Given the description of an element on the screen output the (x, y) to click on. 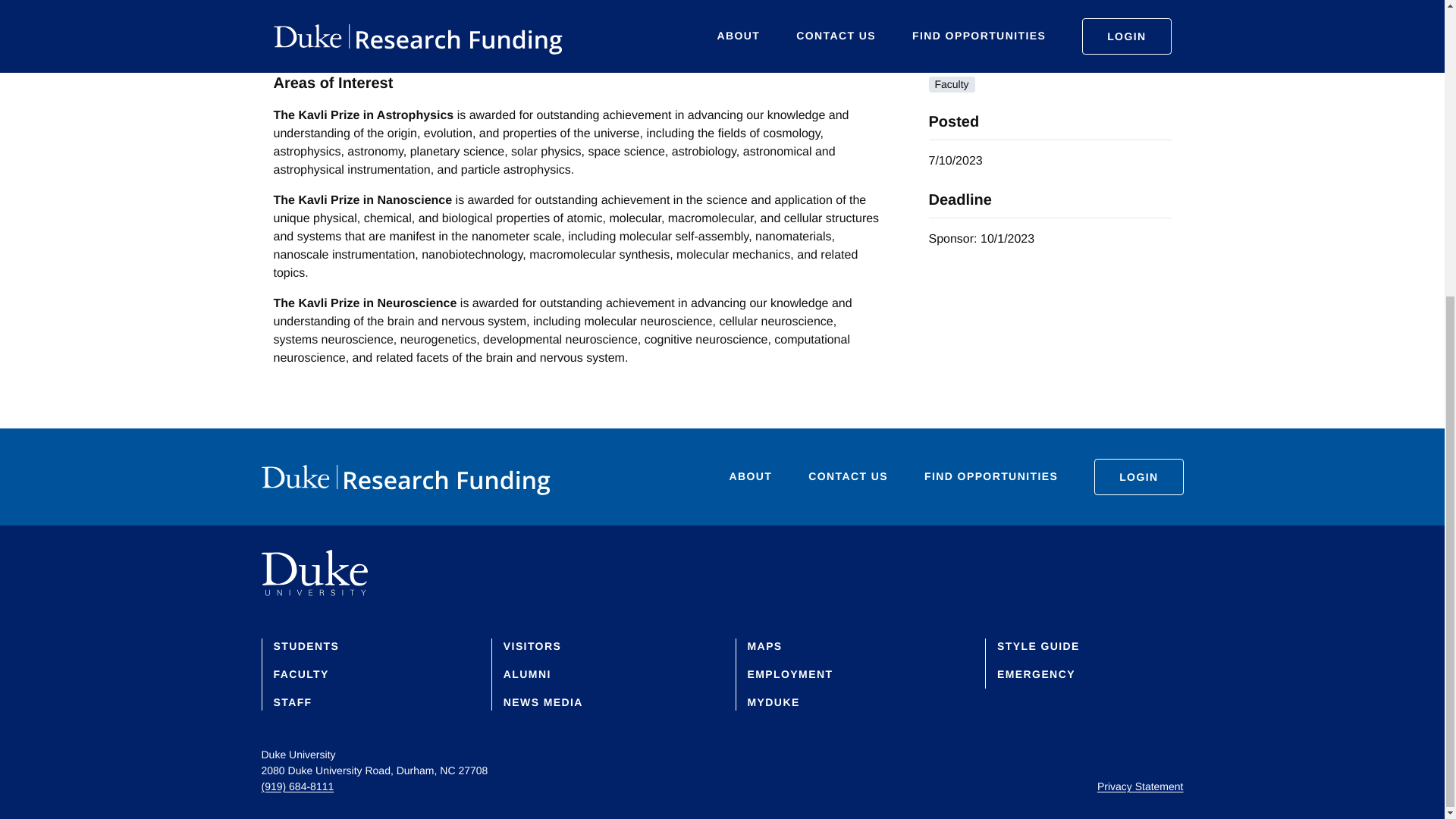
FACULTY (301, 674)
STYLE GUIDE (1038, 645)
Privacy Statement (1140, 786)
CONTACT US (848, 477)
FIND OPPORTUNITIES (991, 477)
ALUMNI (527, 674)
MAPS (765, 645)
Medical - Translational (987, 8)
EMPLOYMENT (790, 674)
VISITORS (531, 645)
MYDUKE (773, 702)
LOGIN (1138, 476)
STAFF (292, 702)
STUDENTS (306, 645)
Faculty (951, 84)
